Given the description of an element on the screen output the (x, y) to click on. 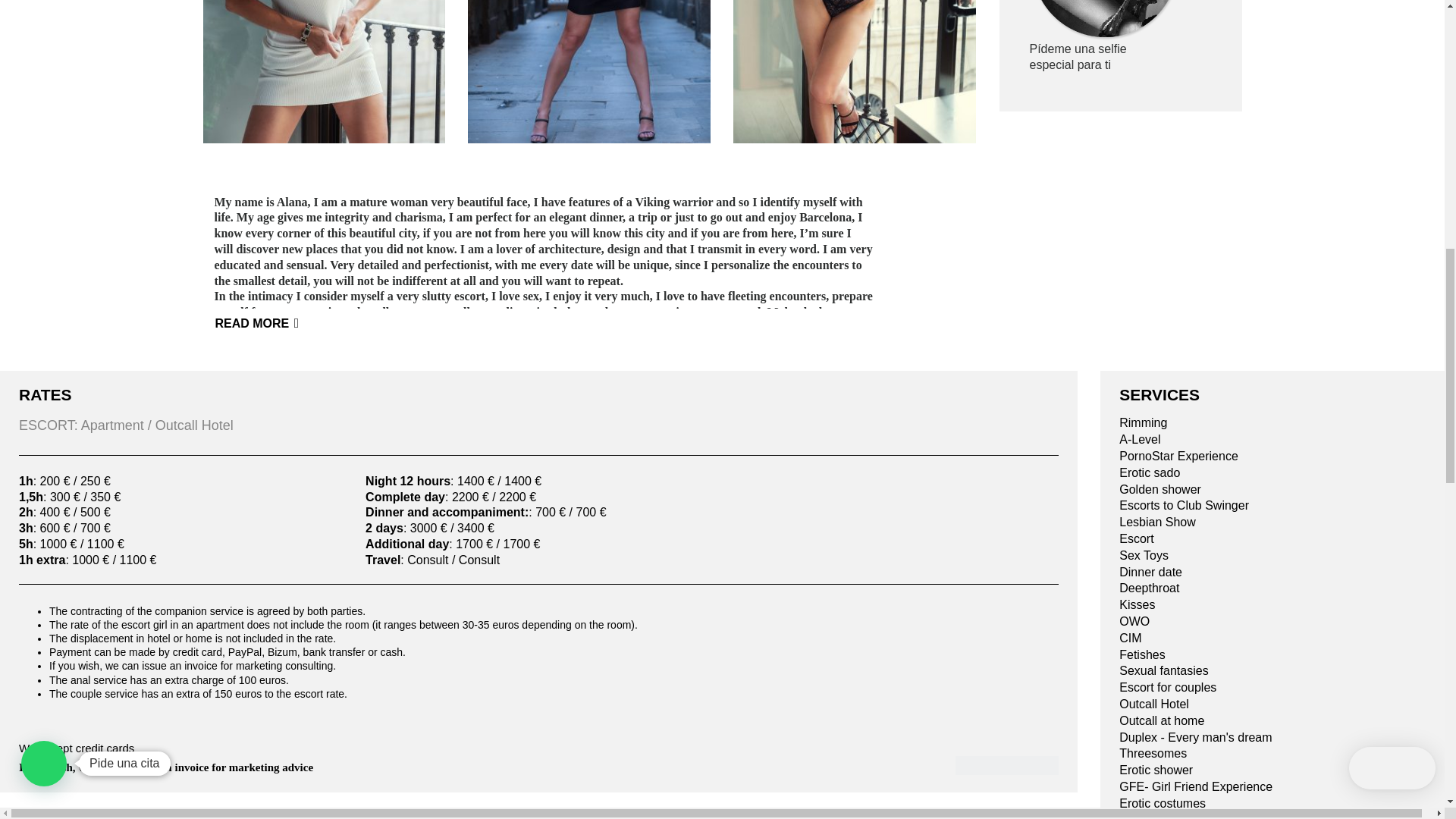
OWO (1272, 621)
Outcall at home (1272, 721)
Kisses (1272, 605)
Fetishes (1272, 655)
Alana (1006, 764)
READ MORE (264, 323)
Golden shower (1272, 489)
Outcall Hotel (1272, 704)
Sexual fantasies (1272, 671)
Erotic sado (1272, 473)
Deepthroat (1272, 588)
Sex Toys (1272, 555)
A-Level (1272, 439)
Rimming (1272, 423)
Escorts to Club Swinger (1272, 505)
